Given the description of an element on the screen output the (x, y) to click on. 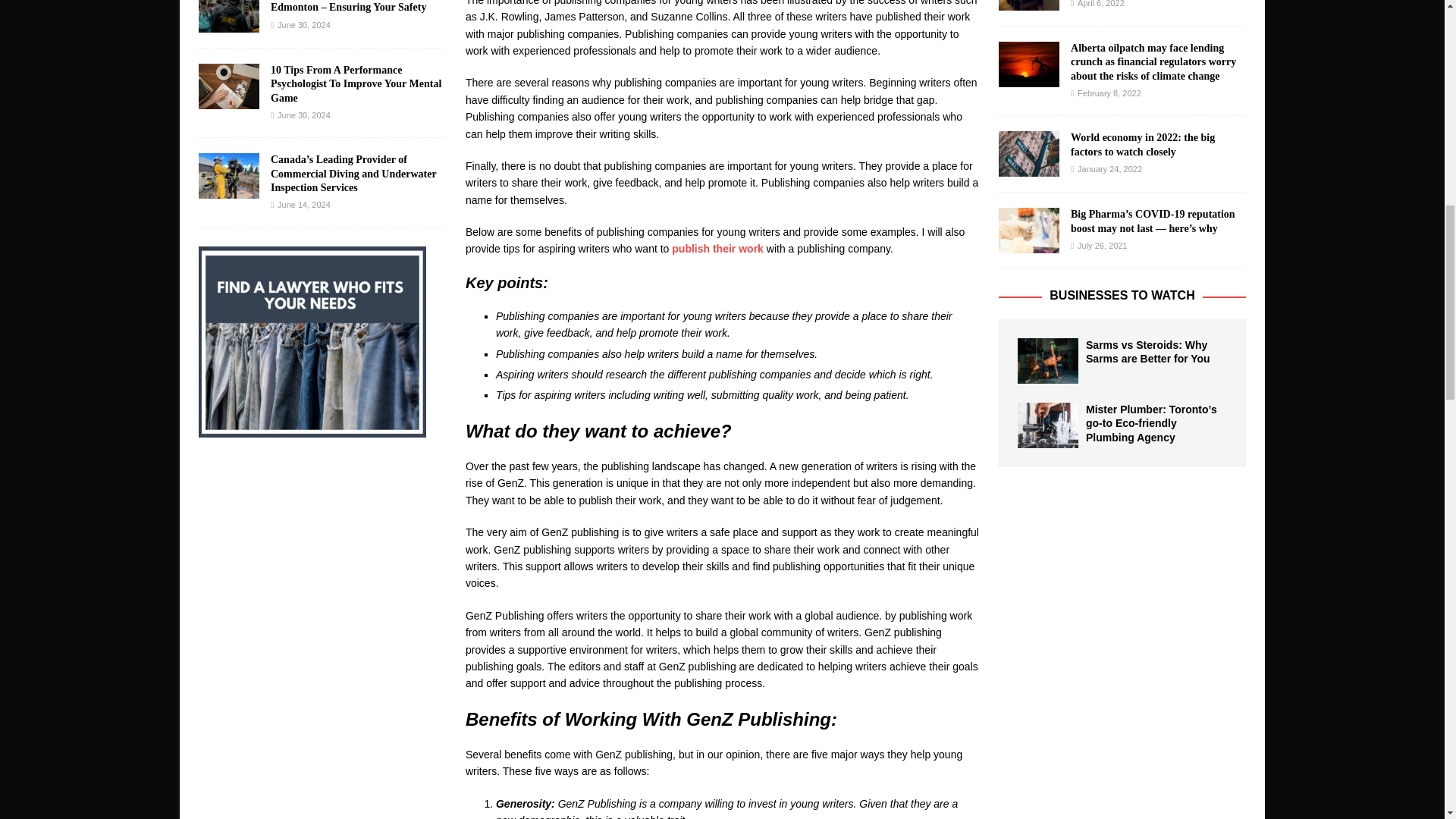
publish their work (716, 248)
